Given the description of an element on the screen output the (x, y) to click on. 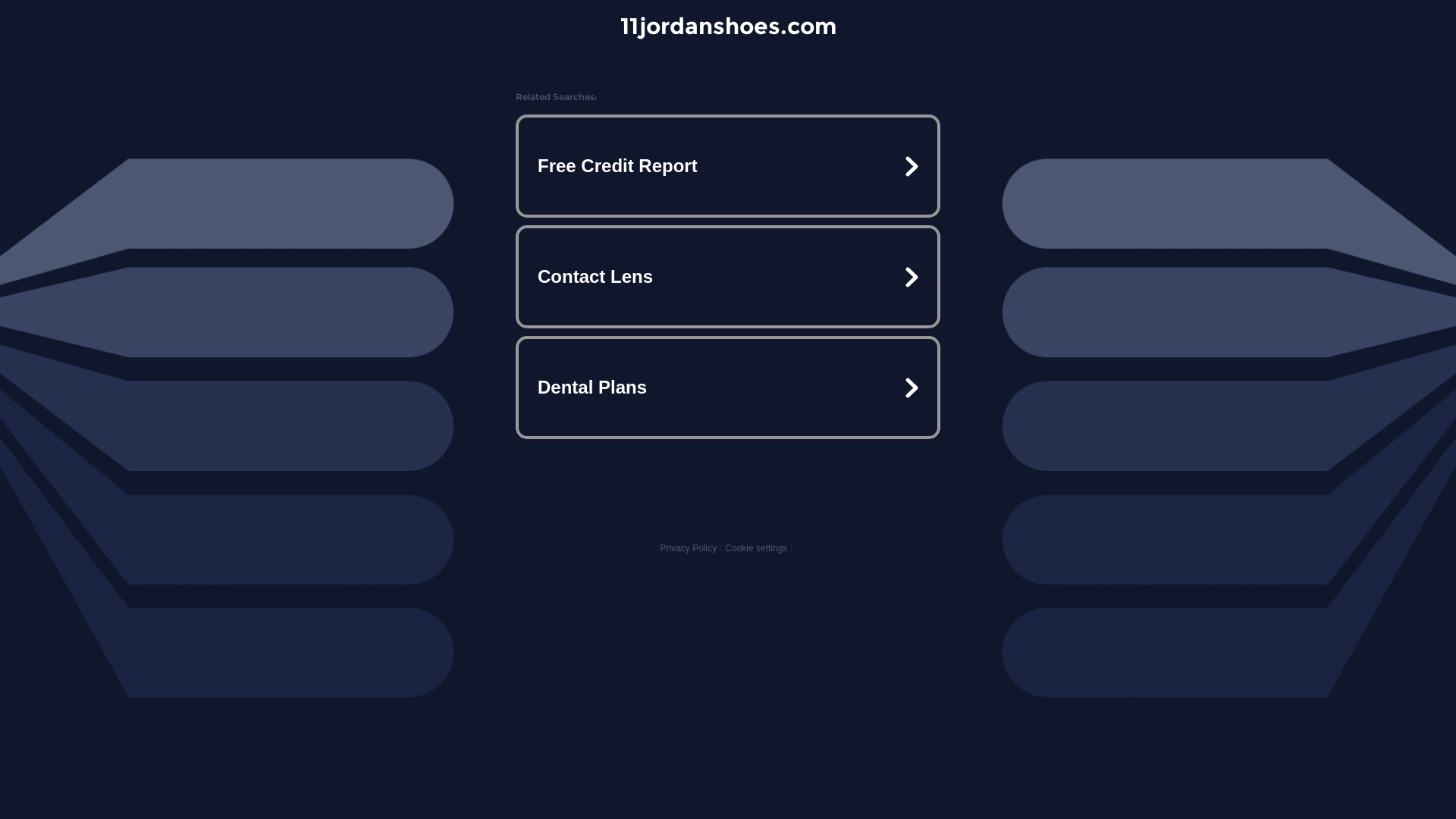
Dental Plans Element type: text (727, 387)
Free Credit Report Element type: text (727, 165)
Privacy Policy Element type: text (687, 547)
11jordanshoes.com Element type: text (728, 26)
Contact Lens Element type: text (727, 276)
Cookie settings Element type: text (755, 547)
